Given the description of an element on the screen output the (x, y) to click on. 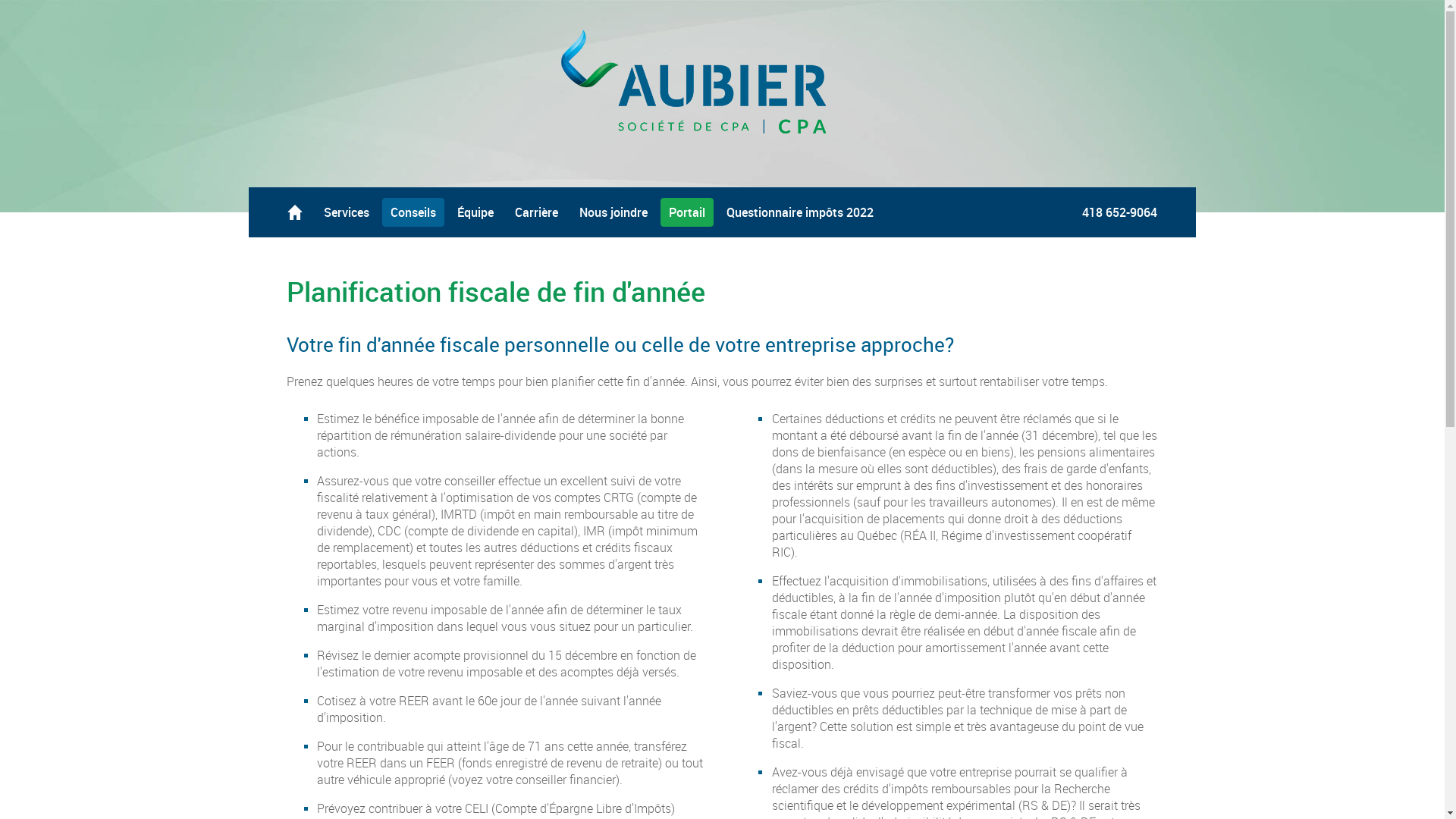
Accueil Element type: text (294, 211)
Conseils Element type: text (413, 211)
Nous joindre Element type: text (613, 211)
Services Element type: text (346, 211)
418 652-9064 Element type: text (1119, 211)
Portail Element type: text (686, 211)
